Given the description of an element on the screen output the (x, y) to click on. 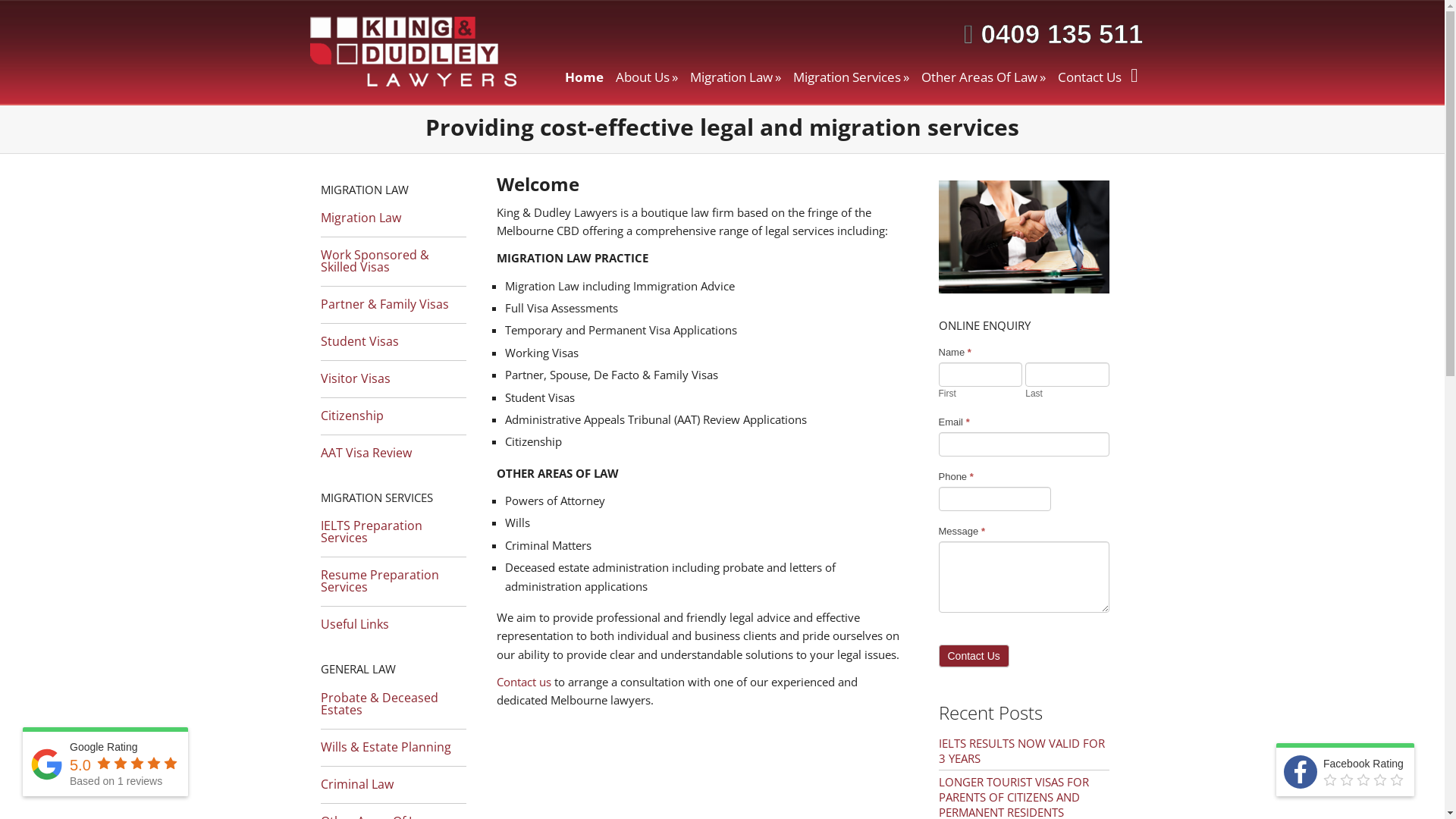
Other Areas Of Law Element type: text (983, 76)
Citizenship Element type: text (392, 411)
IELTS RESULTS NOW VALID FOR 3 YEARS Element type: text (1021, 750)
Partner & Family Visas Element type: text (392, 299)
Contact Us Element type: text (1089, 76)
IELTS Preparation Services Element type: text (392, 527)
Home Element type: text (584, 76)
Useful Links Element type: text (392, 619)
Migration Law Element type: text (392, 213)
King & Dudley Lawyers Element type: text (415, 56)
About Us Element type: text (646, 76)
Criminal Law Element type: text (392, 779)
Work Sponsored & Skilled Visas Element type: text (392, 256)
Wills & Estate Planning Element type: text (392, 742)
Student Visas Element type: text (392, 337)
Migration Law Element type: text (735, 76)
Visitor Visas Element type: text (392, 374)
AAT Visa Review Element type: text (392, 448)
Contact us Element type: text (522, 681)
0409 135 511 Element type: text (1057, 33)
Migration Services Element type: text (850, 76)
Resume Preparation Services Element type: text (392, 576)
Probate & Deceased Estates Element type: text (392, 699)
Melbourne Immigration Lawyer Element type: hover (1023, 237)
Contact Us Element type: text (973, 655)
